Given the description of an element on the screen output the (x, y) to click on. 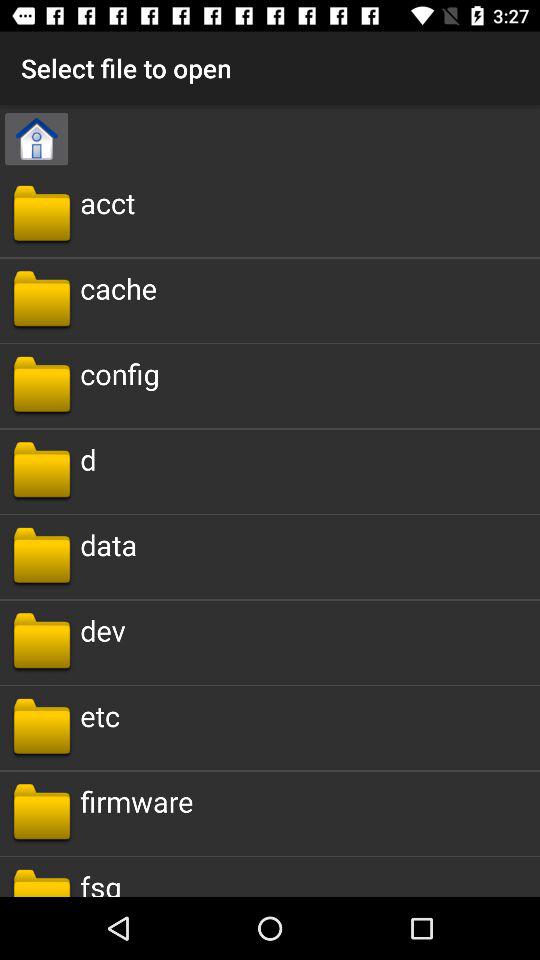
choose the app above dev item (108, 544)
